Given the description of an element on the screen output the (x, y) to click on. 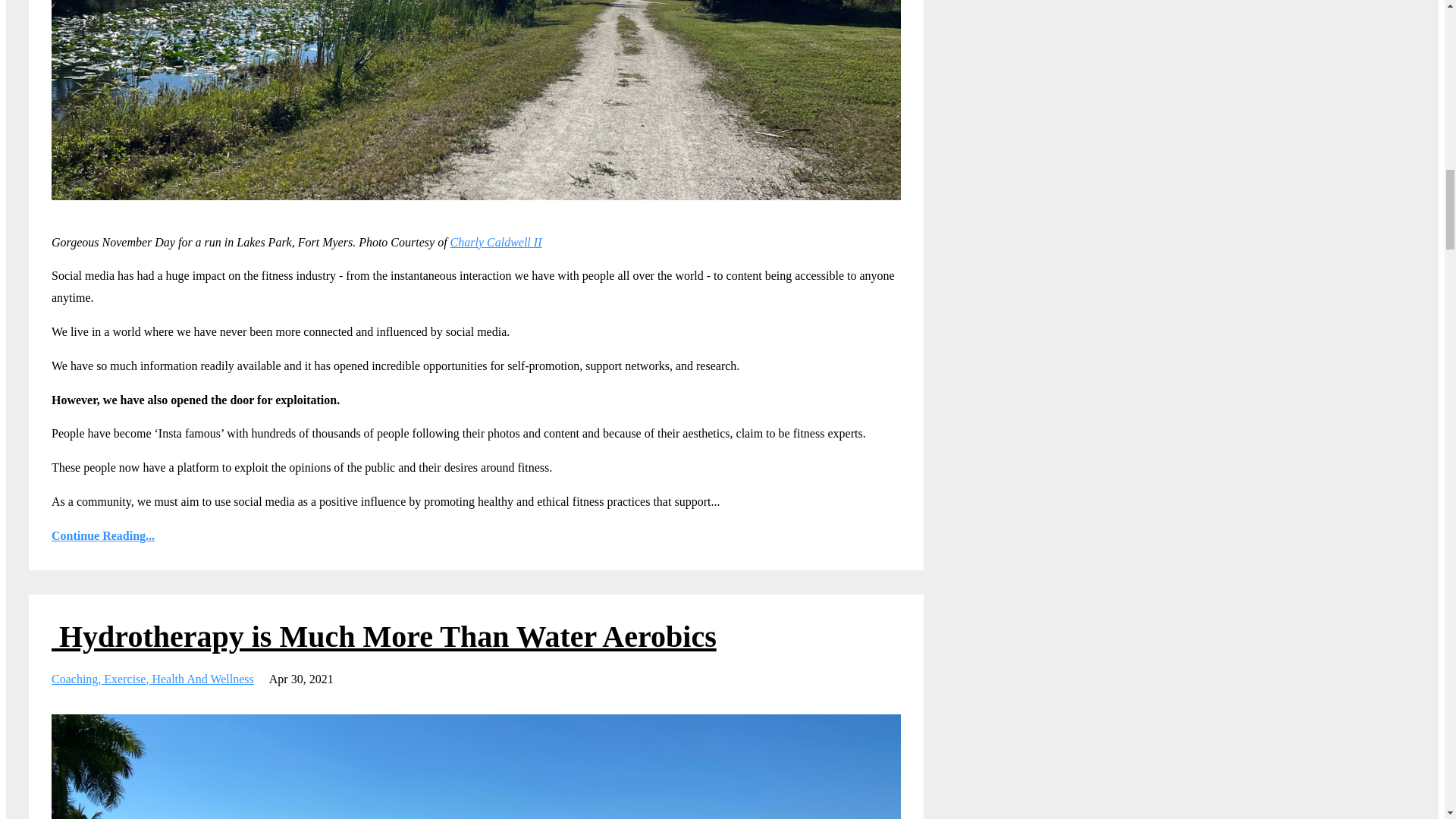
Charly Caldwell II (495, 241)
Health And Wellness (202, 678)
Continue Reading... (475, 536)
Hydrotherapy is Much More Than Water Aerobics (383, 636)
Coaching (76, 678)
Exercise (127, 678)
